Given the description of an element on the screen output the (x, y) to click on. 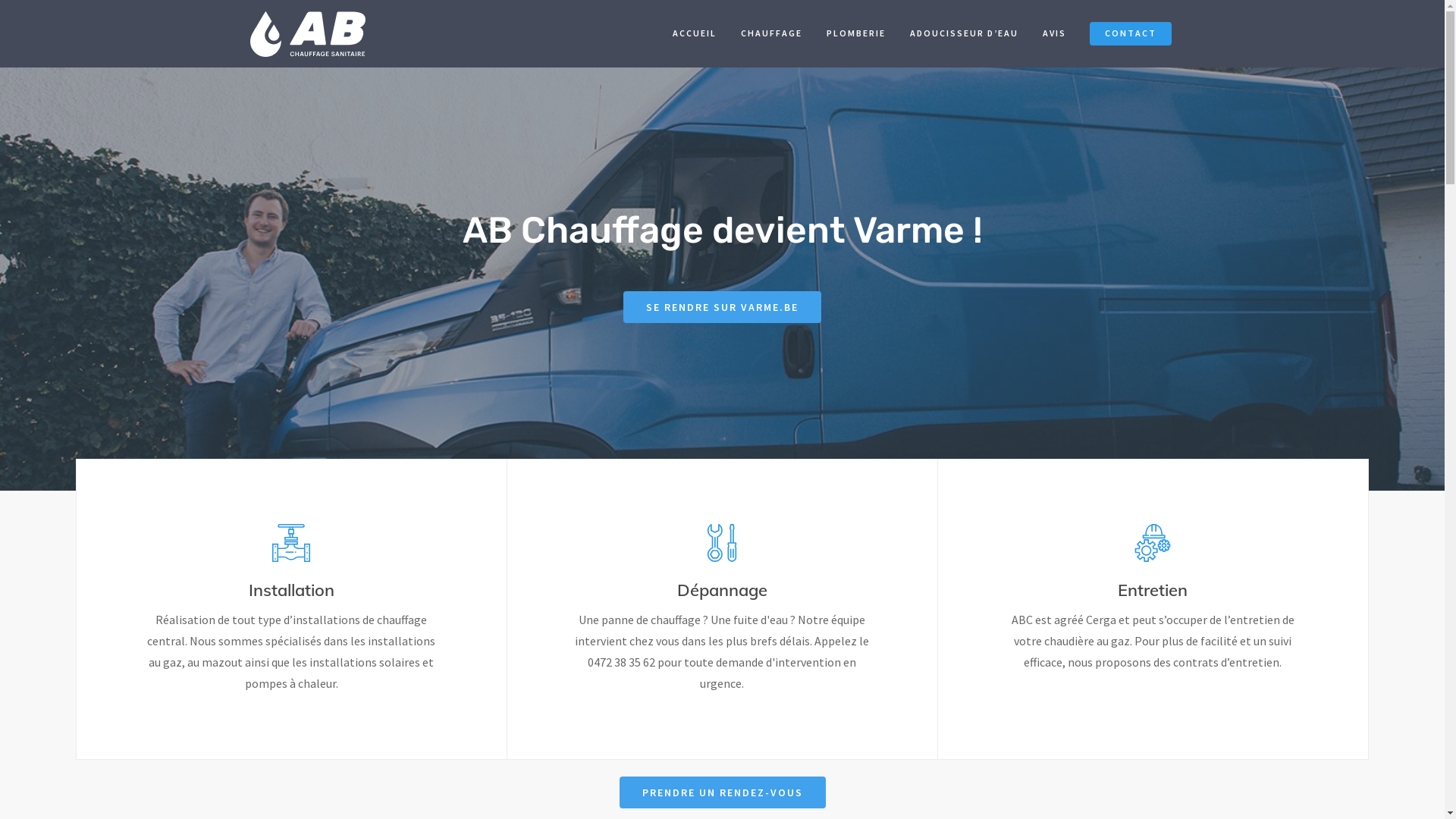
PLOMBERIE Element type: text (856, 39)
ACCUEIL Element type: text (694, 39)
CONTACT Element type: text (1130, 39)
CHAUFFAGE Element type: text (771, 39)
AVIS Element type: text (1054, 39)
PRENDRE UN RENDEZ-VOUS Element type: text (721, 792)
SE RENDRE SUR VARME.BE Element type: text (722, 307)
